Given the description of an element on the screen output the (x, y) to click on. 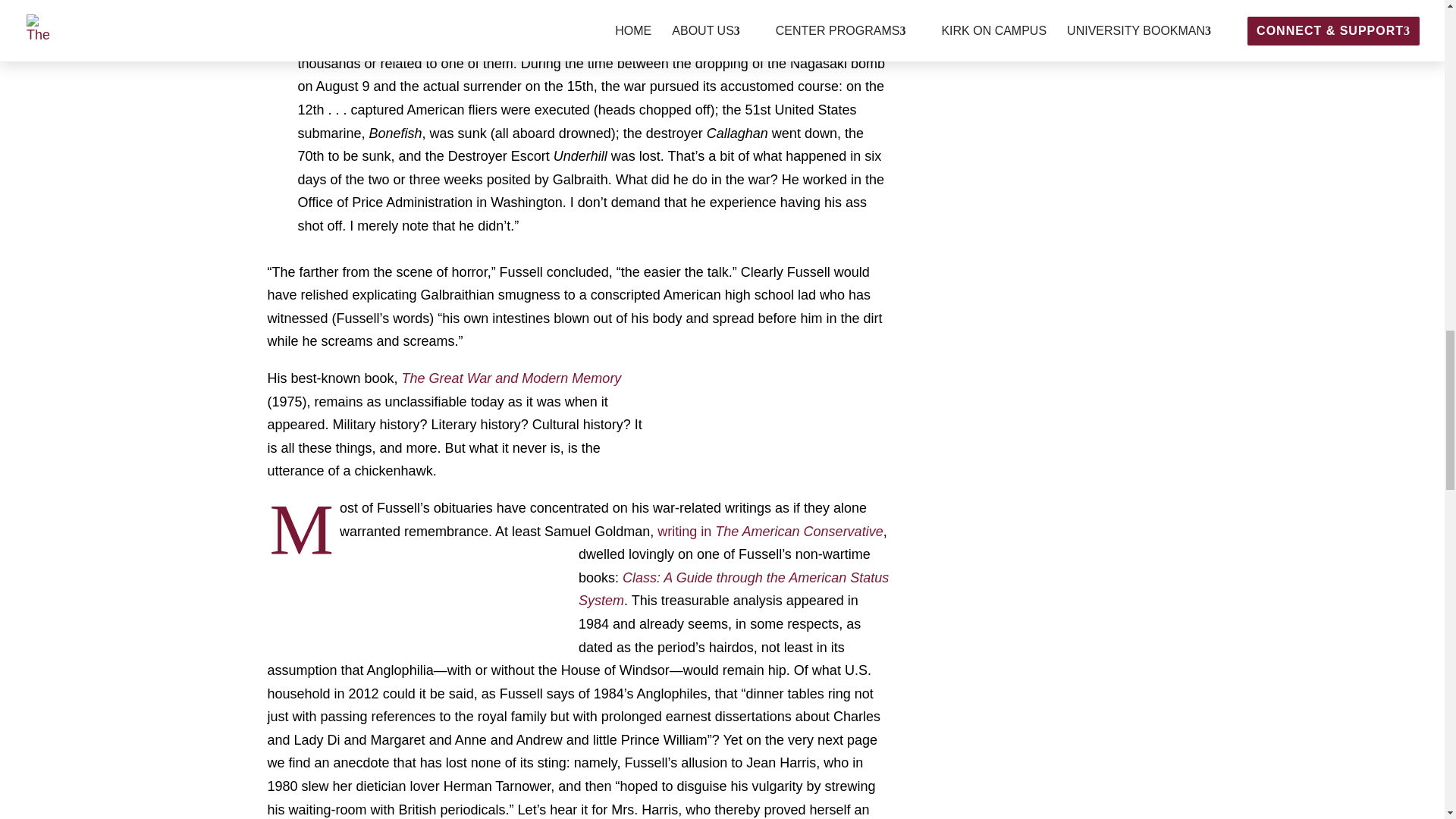
writing in The American Conservative (770, 531)
The Great War and Modern Memory (511, 378)
Class: A Guide through the American Status System (733, 589)
